Given the description of an element on the screen output the (x, y) to click on. 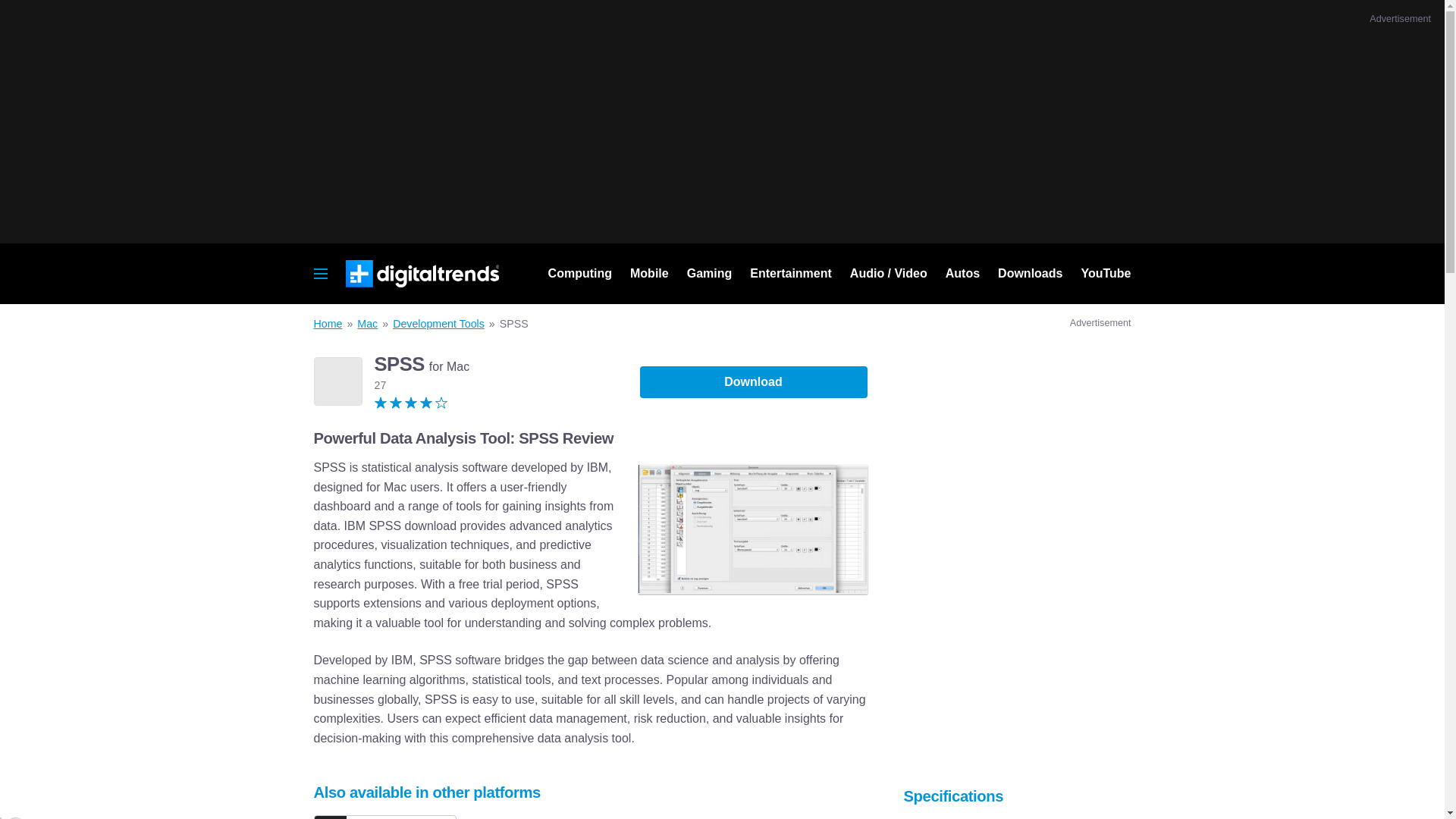
Mac (366, 323)
Development Tools (438, 323)
Download (753, 382)
Mac (366, 323)
Entertainment (791, 273)
Downloads (1029, 273)
Home (328, 323)
Menu (320, 272)
Mobile (649, 273)
YouTube (1105, 273)
Computing (579, 273)
Digital Trends (422, 273)
SPSS for Windows (385, 816)
Development Tools (438, 323)
Gaming (709, 273)
